Given the description of an element on the screen output the (x, y) to click on. 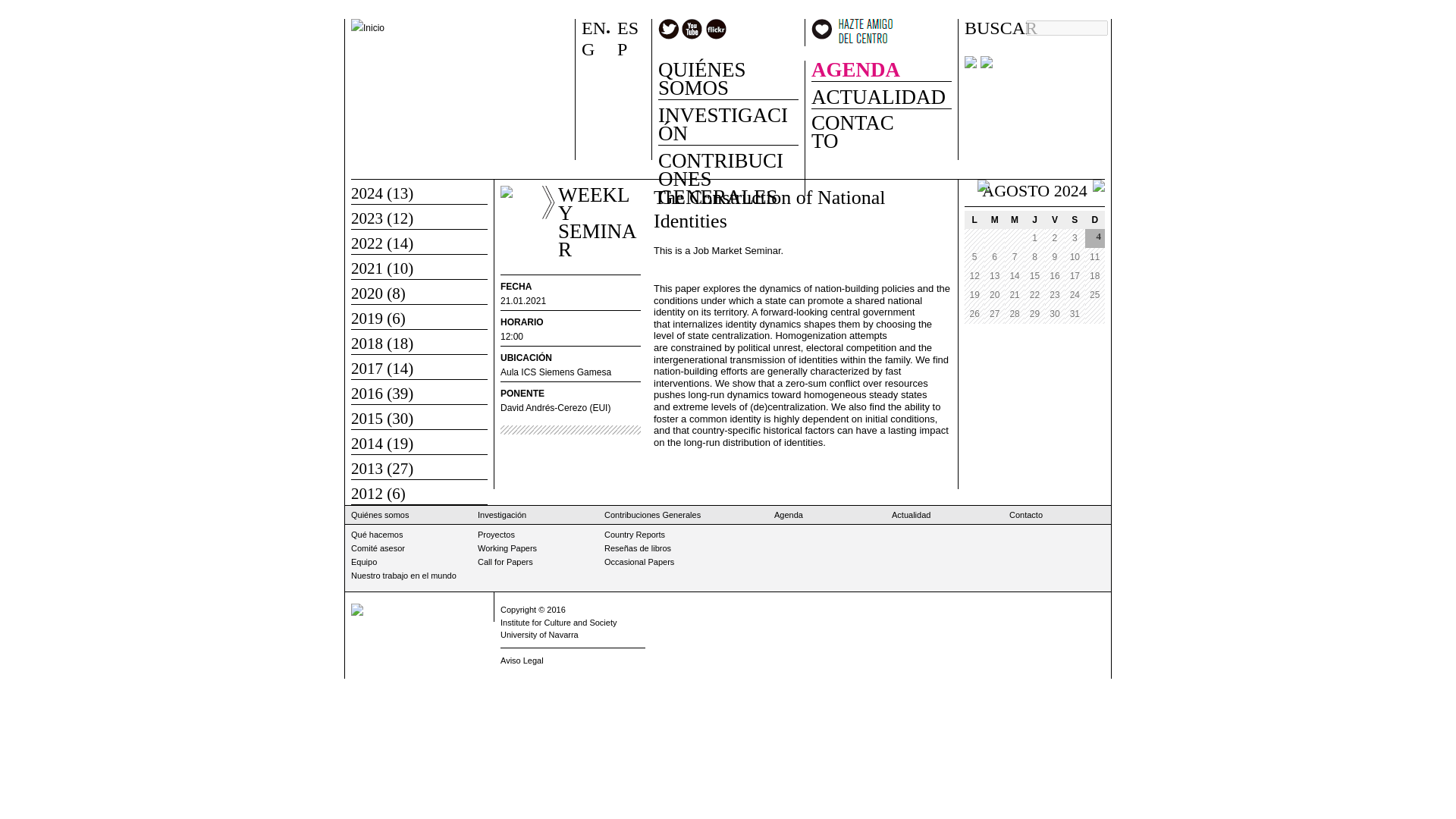
Ir al mes siguiente (1099, 188)
2015 (366, 418)
2019 (366, 318)
2018 (366, 343)
AGOSTO 2024 (1033, 189)
2023 (366, 218)
Flickr (716, 29)
2012 (366, 493)
ACTUALIDAD (881, 97)
2022 (366, 243)
2024 (366, 193)
Nuestro trabajo en el mundo (403, 574)
2013 (366, 468)
2016 (366, 393)
Twitter (668, 29)
